Given the description of an element on the screen output the (x, y) to click on. 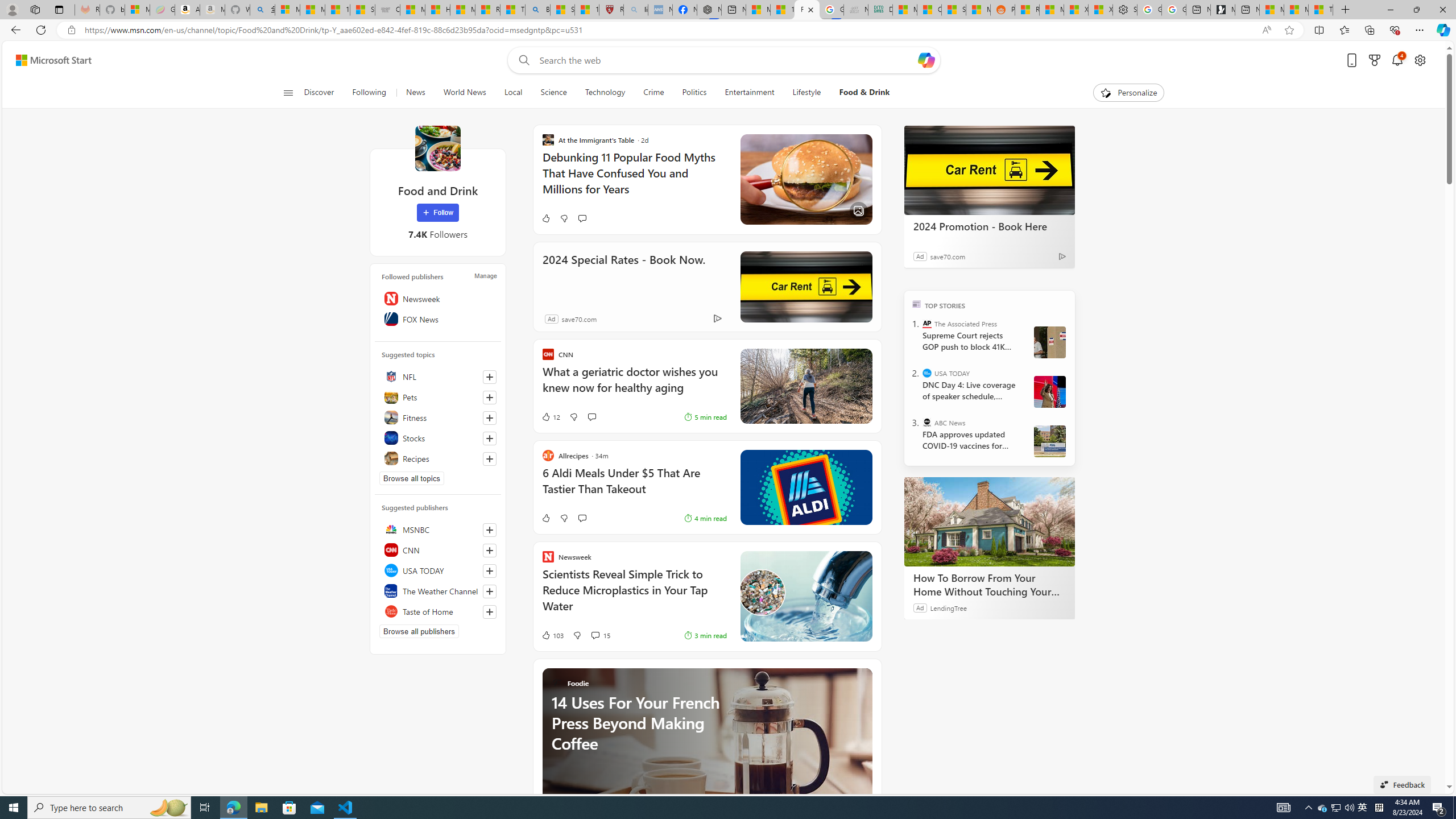
How I Got Rid of Microsoft Edge's Unnecessary Features (437, 9)
Manage (485, 275)
Like (544, 517)
TOP (916, 302)
